Given the description of an element on the screen output the (x, y) to click on. 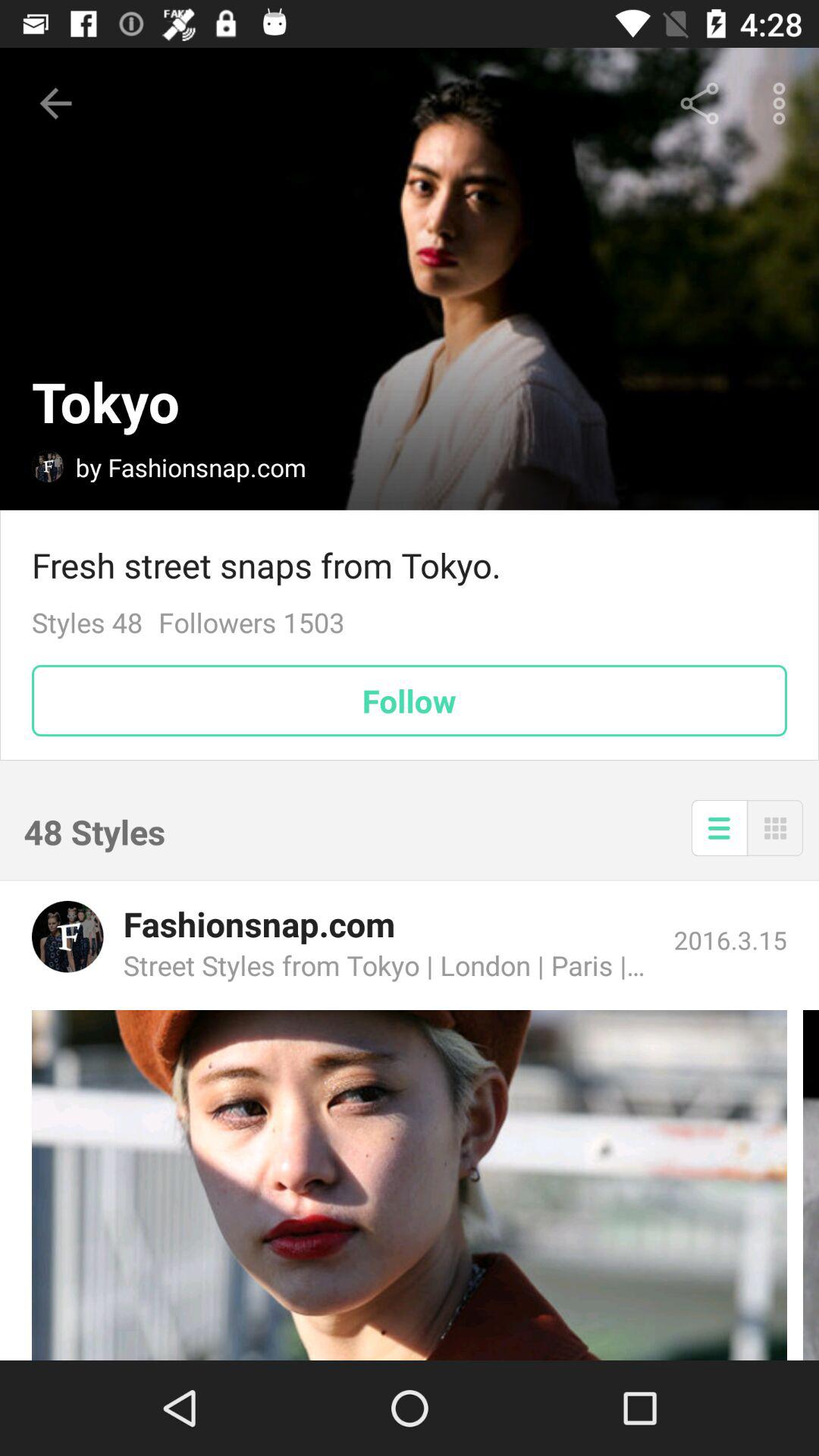
connect to site (409, 1185)
